Given the description of an element on the screen output the (x, y) to click on. 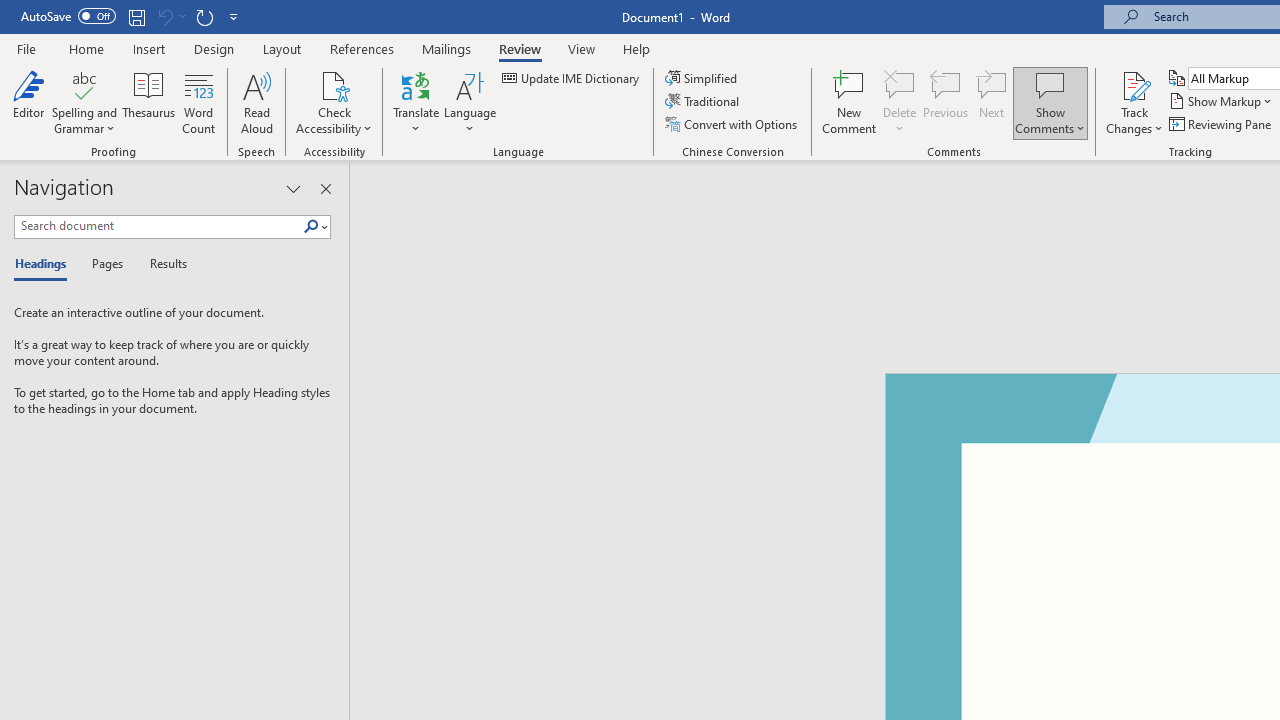
Language (470, 102)
Check Accessibility (334, 84)
Reviewing Pane (1221, 124)
Simplified (702, 78)
Spelling and Grammar (84, 102)
Track Changes (1134, 84)
